Given the description of an element on the screen output the (x, y) to click on. 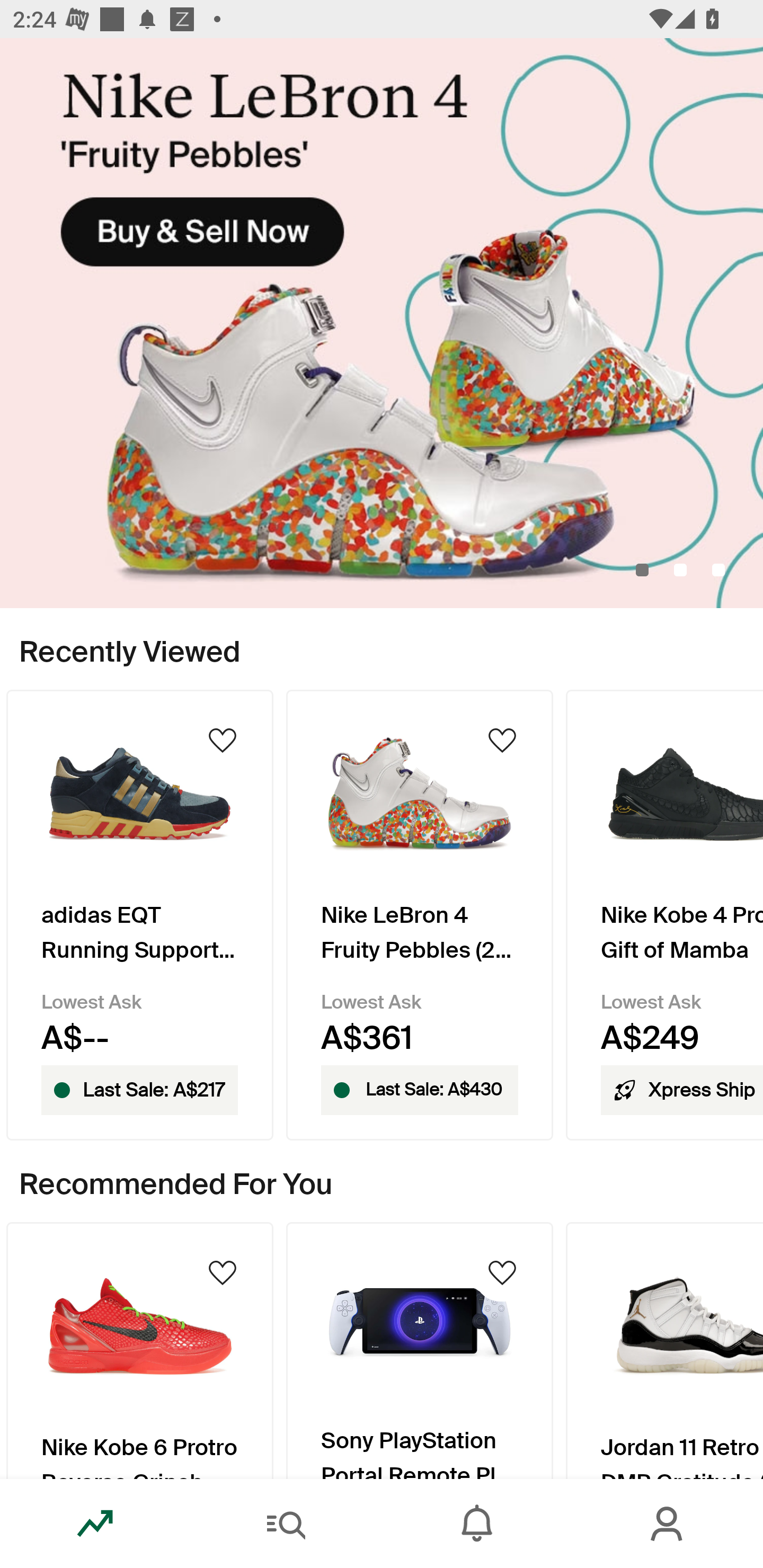
Product Image Nike Kobe 6 Protro Reverse Grinch (139, 1349)
Search (285, 1523)
Inbox (476, 1523)
Account (667, 1523)
